Given the description of an element on the screen output the (x, y) to click on. 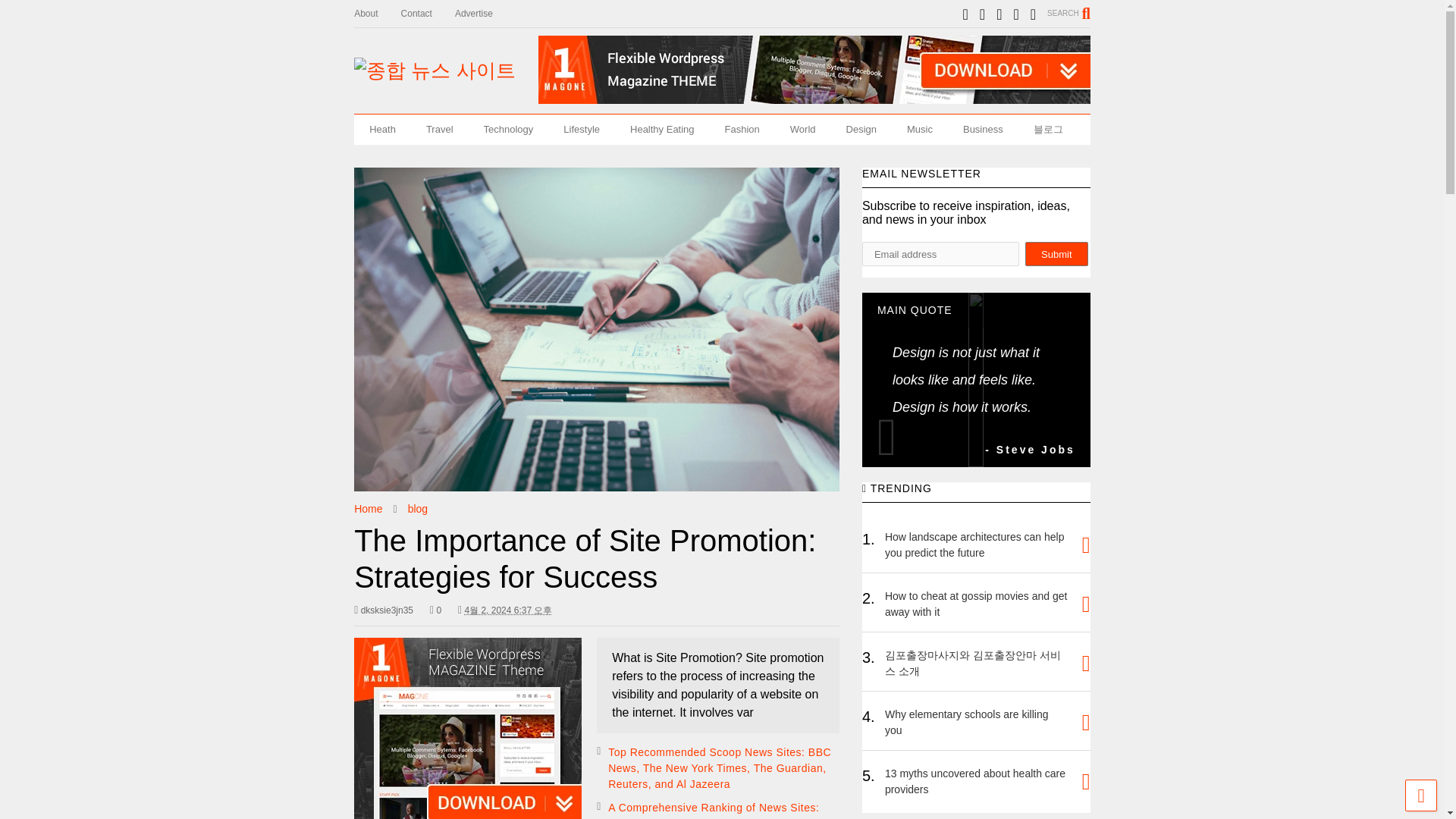
Business (982, 129)
Submit (1056, 253)
Technology (508, 129)
About (376, 13)
dksksie3jn35 (383, 610)
Advertise (484, 13)
Travel (439, 129)
Heath (381, 129)
